Given the description of an element on the screen output the (x, y) to click on. 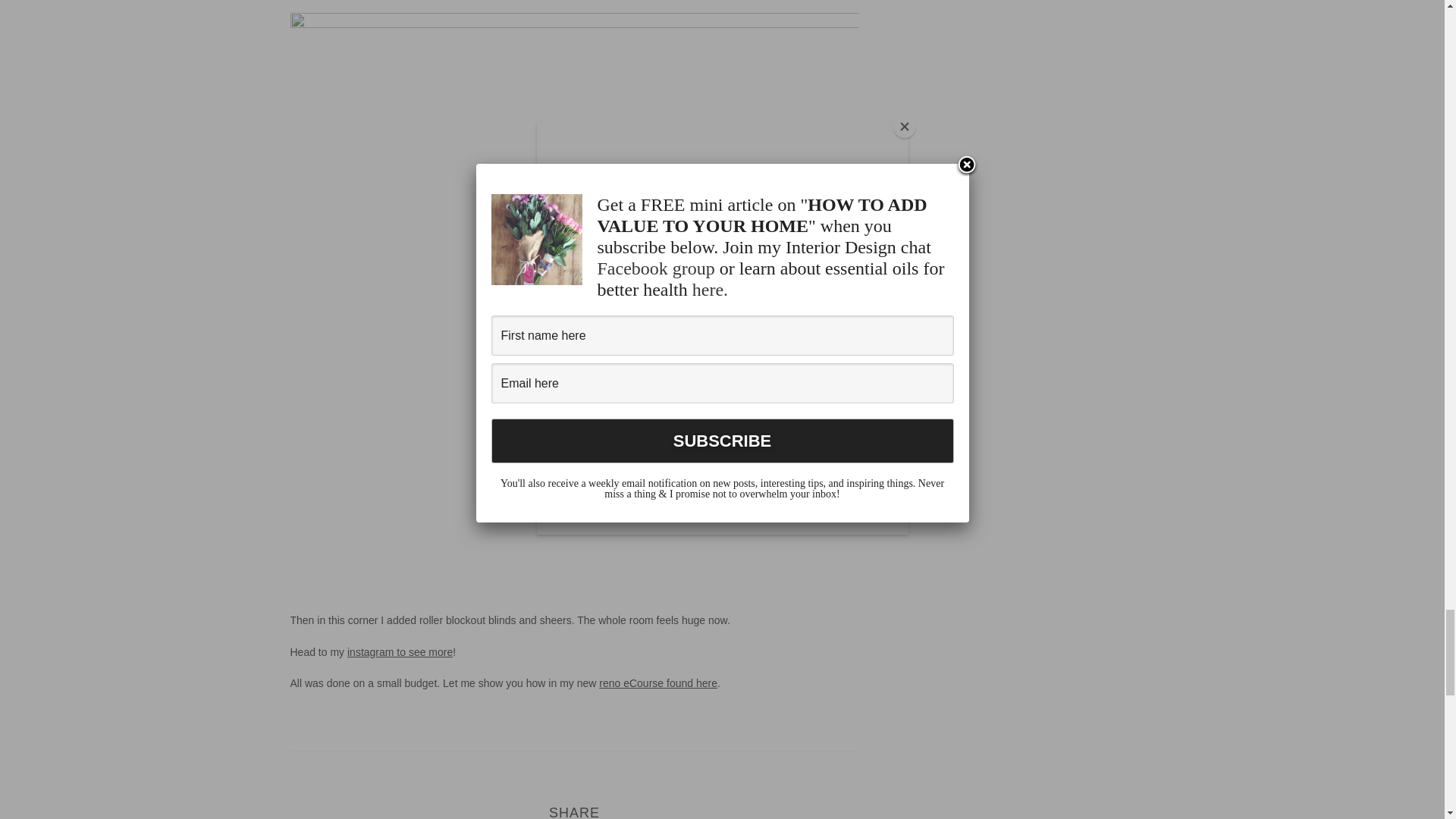
instagram to see more (399, 652)
reno eCourse found here (657, 683)
